Given the description of an element on the screen output the (x, y) to click on. 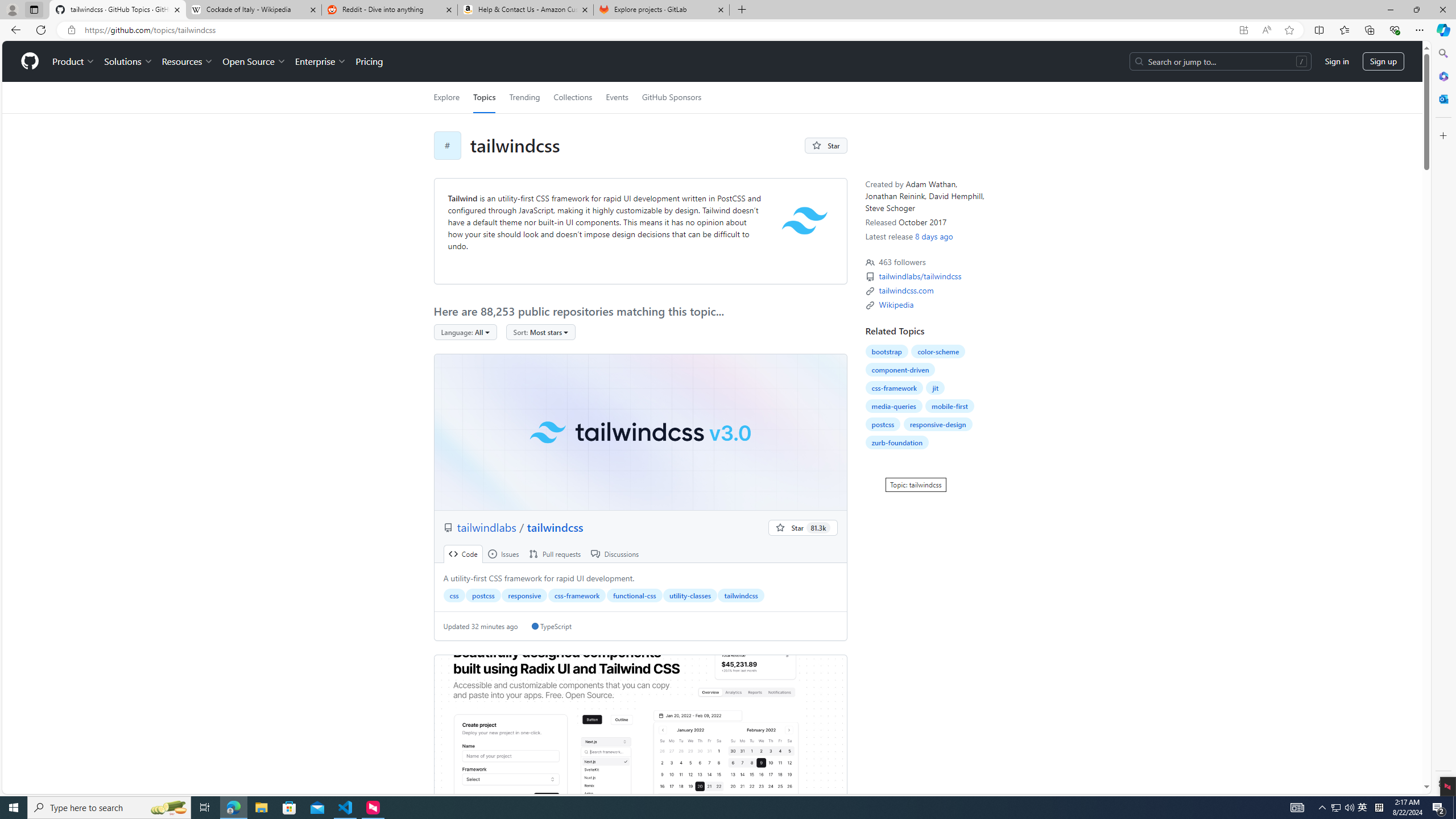
en.wikipedia.org/wiki/Tailwind_CSS (896, 304)
tailwindcss (740, 594)
Topics (484, 97)
 Code (462, 553)
Enterprise (319, 60)
Solutions (128, 60)
Open Source (254, 60)
8 days ago (933, 235)
Events (616, 97)
css-framework (893, 387)
